Given the description of an element on the screen output the (x, y) to click on. 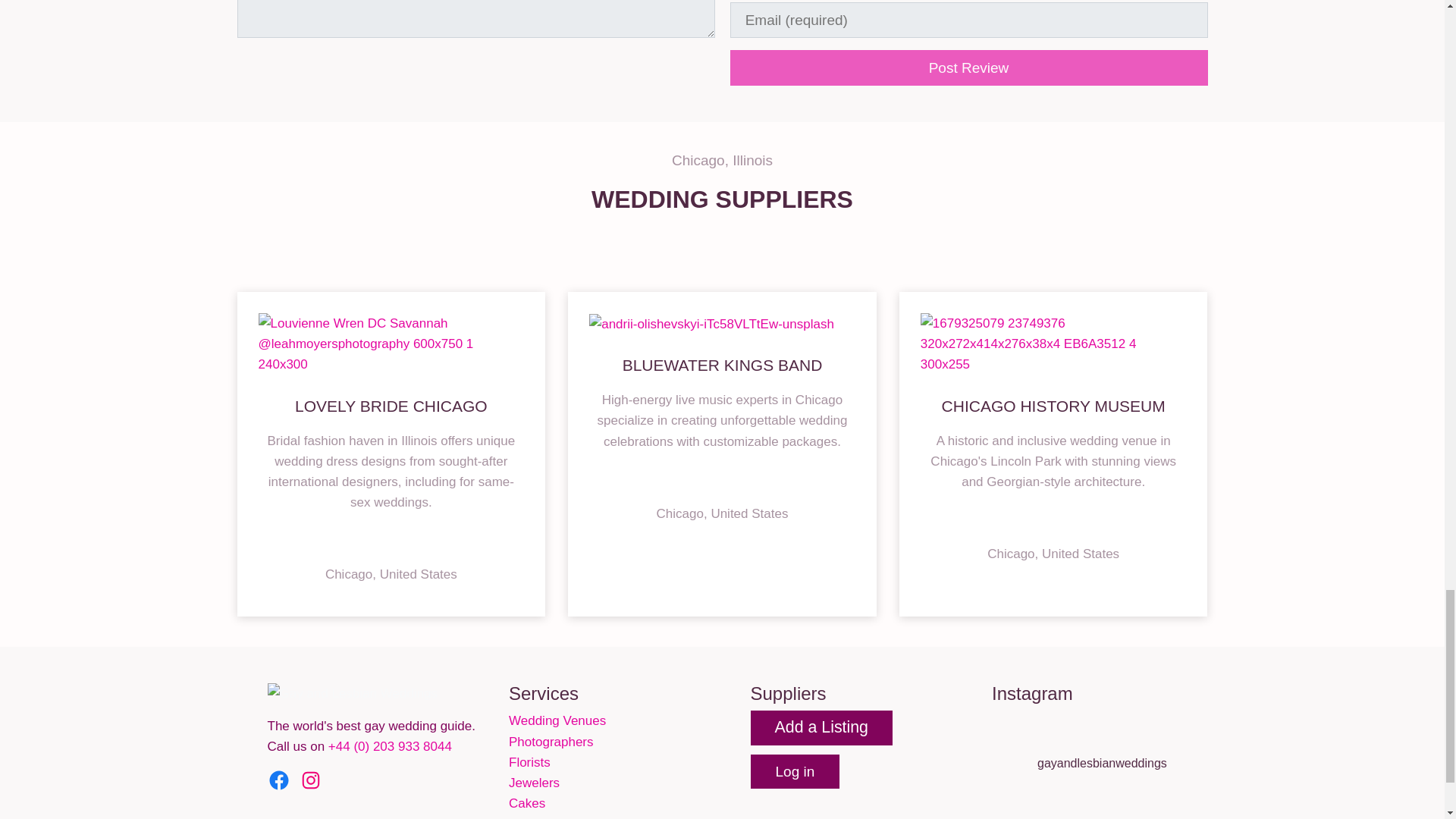
andrii-olishevskyi-iTc58VLTtEw-unsplash (711, 323)
Post Review (968, 67)
View: Bluewater Kings Band (722, 364)
View: Lovely Bride Chicago (391, 405)
